Given the description of an element on the screen output the (x, y) to click on. 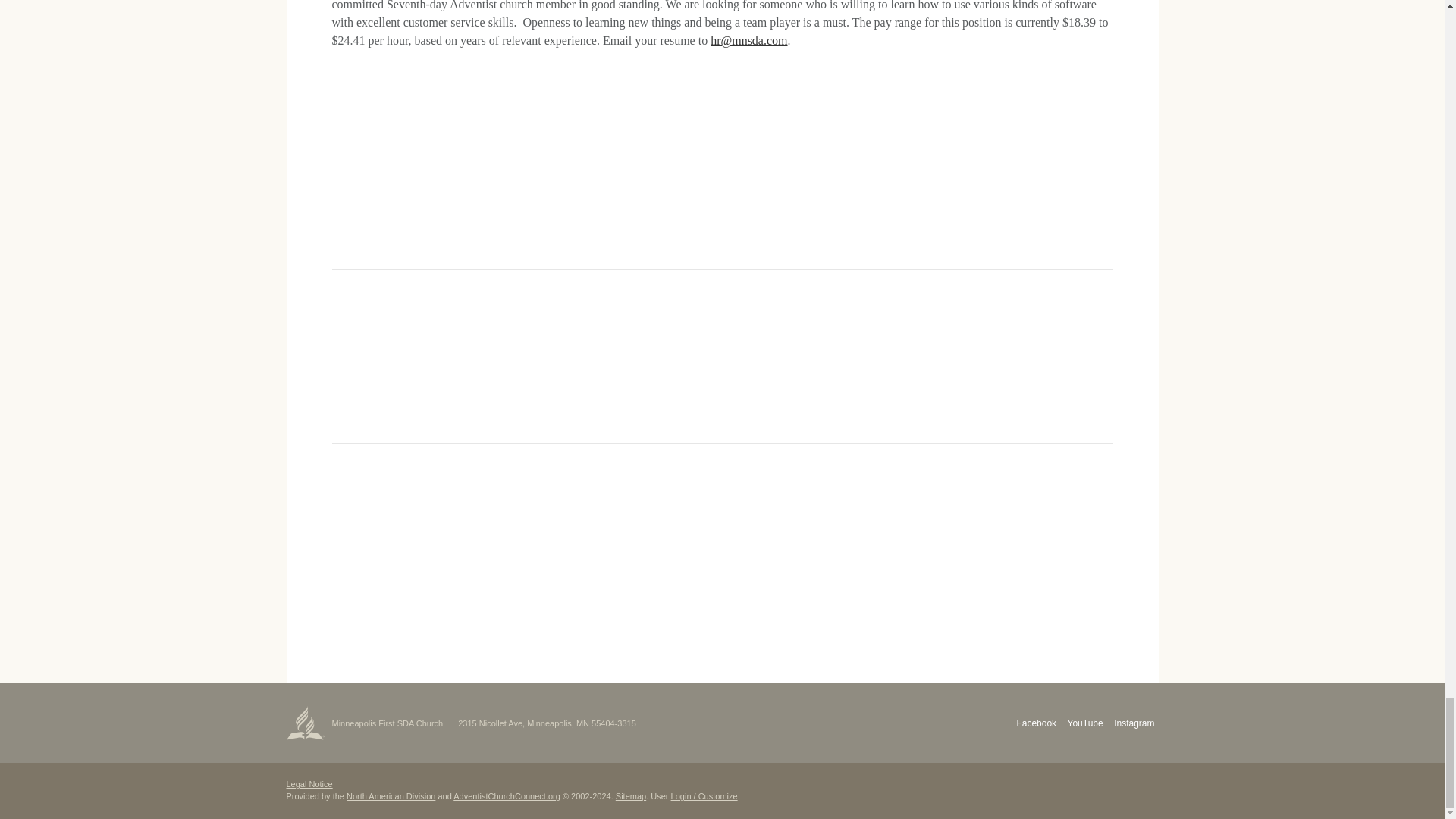
Seventh-day Adventist Logo (305, 722)
